Given the description of an element on the screen output the (x, y) to click on. 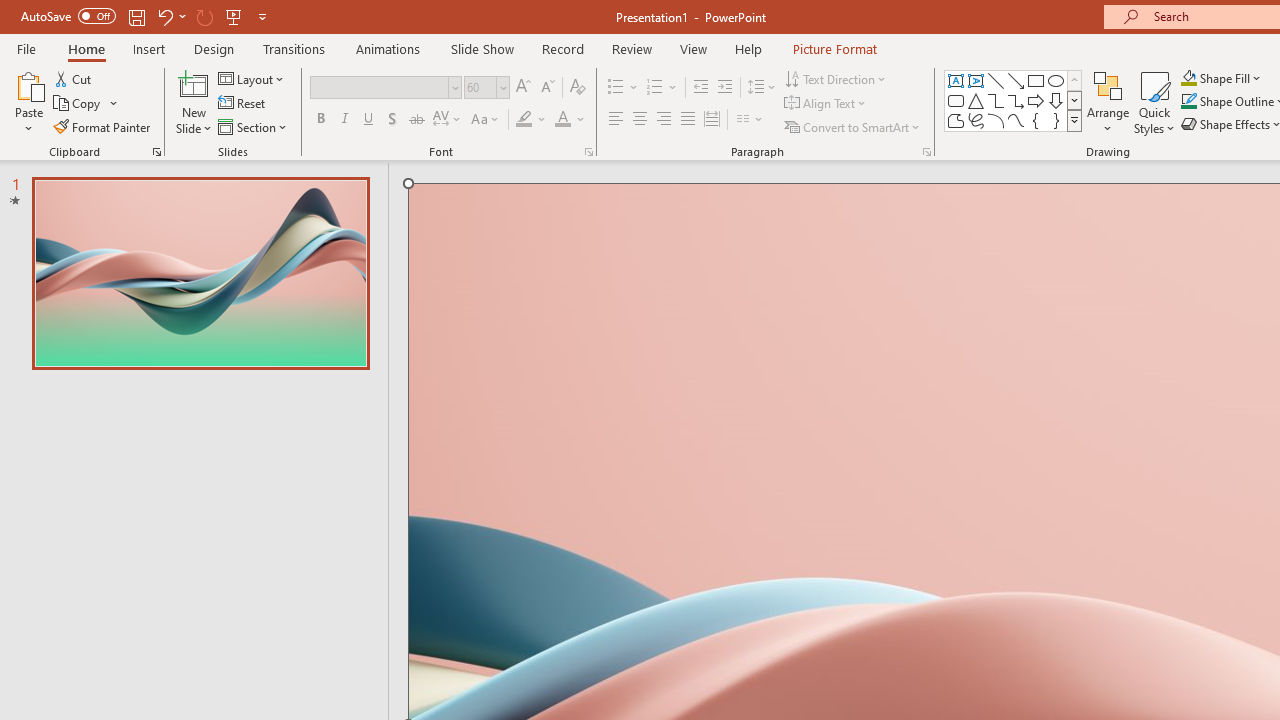
Picture Format (834, 48)
